Given the description of an element on the screen output the (x, y) to click on. 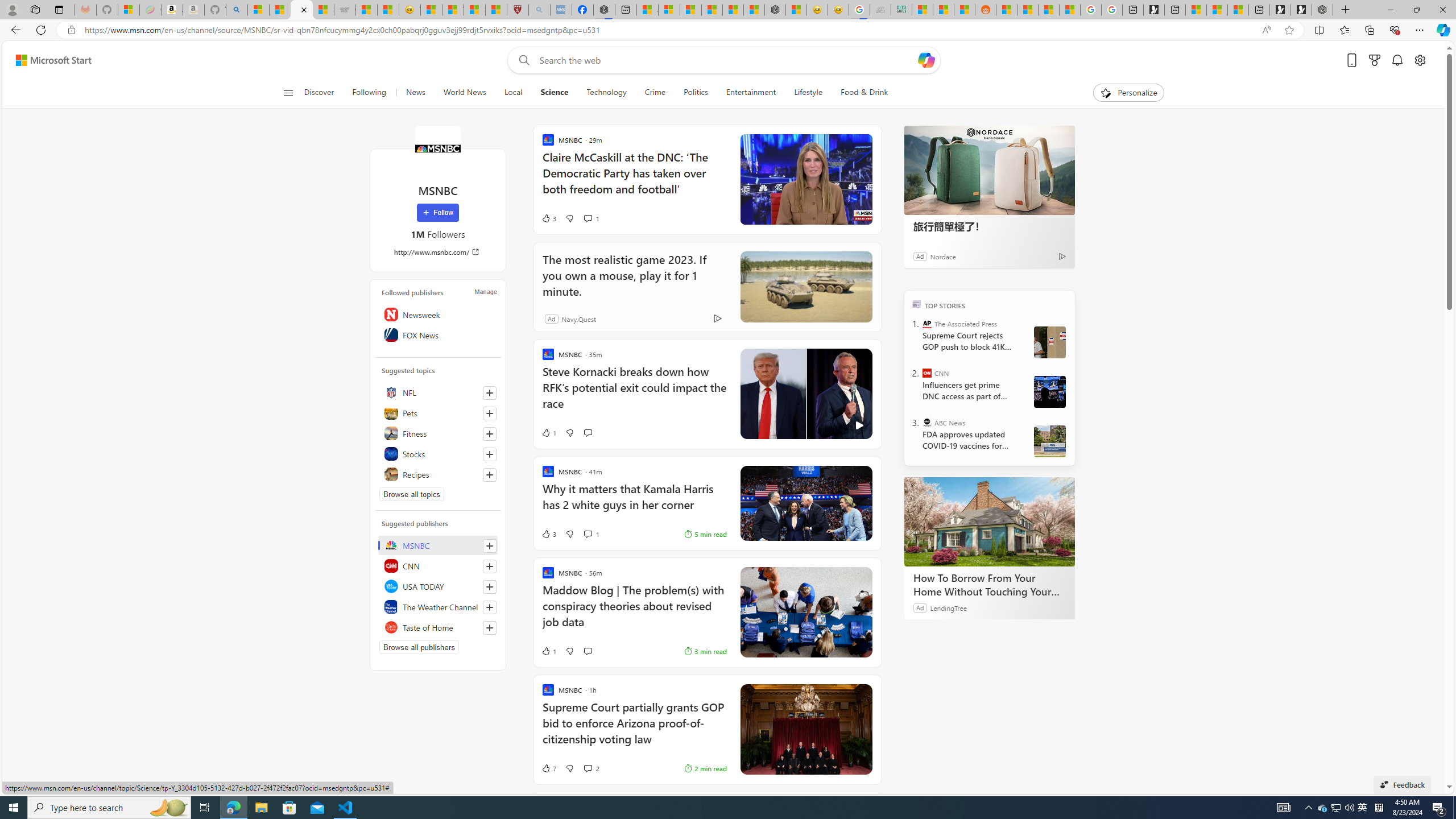
MSNBC (437, 545)
World News (464, 92)
View comments 2 Comment (591, 768)
Discover (319, 92)
Browse all topics (412, 494)
Web search (520, 60)
Crime (655, 92)
How To Borrow From Your Home Without Touching Your Mortgage (989, 521)
NCL Adult Asthma Inhaler Choice Guideline - Sleeping (561, 9)
